Given the description of an element on the screen output the (x, y) to click on. 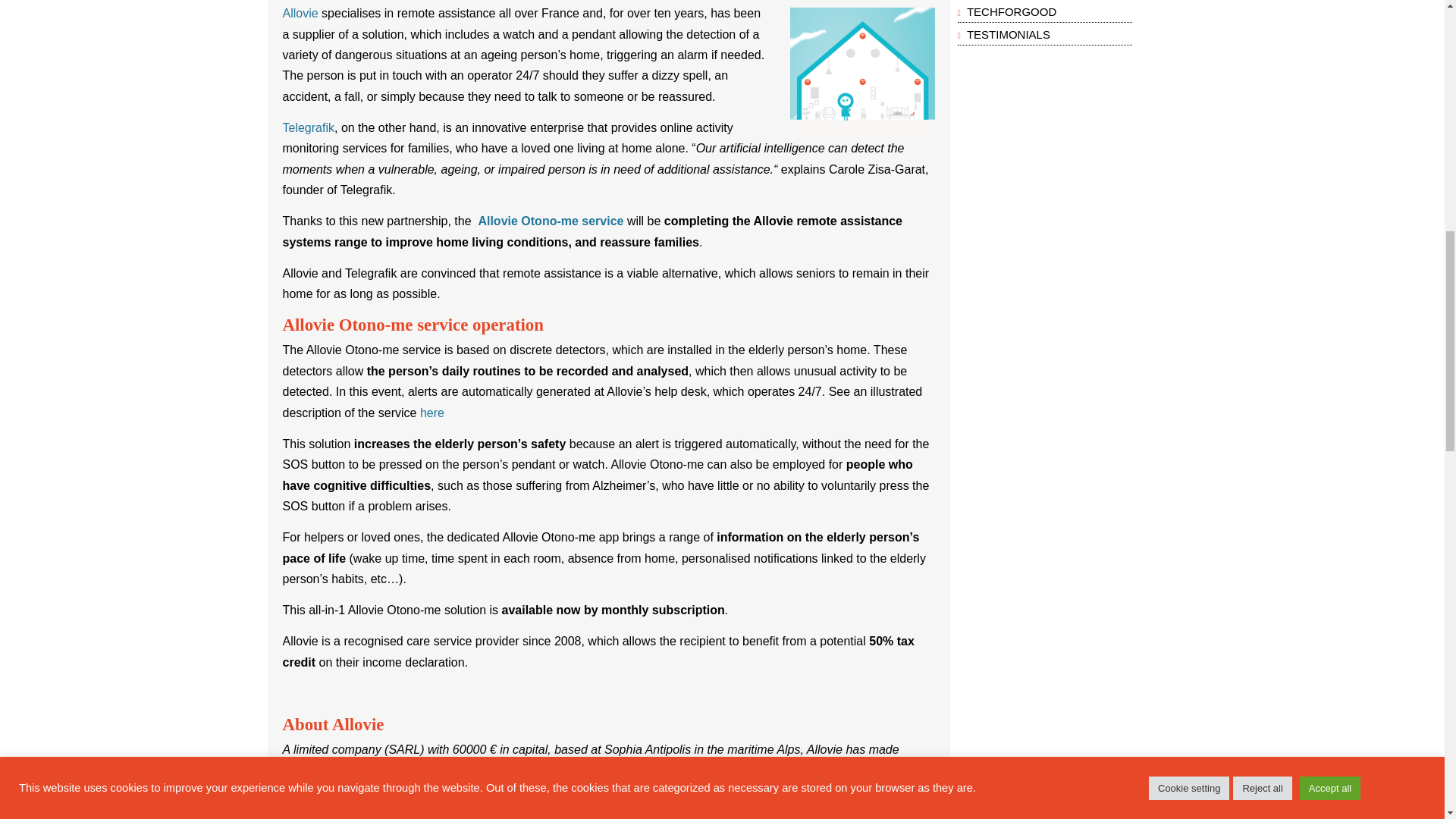
here (432, 412)
Allovie Otono-me service (550, 220)
Telegrafik (307, 127)
Allovie  (301, 12)
